Given the description of an element on the screen output the (x, y) to click on. 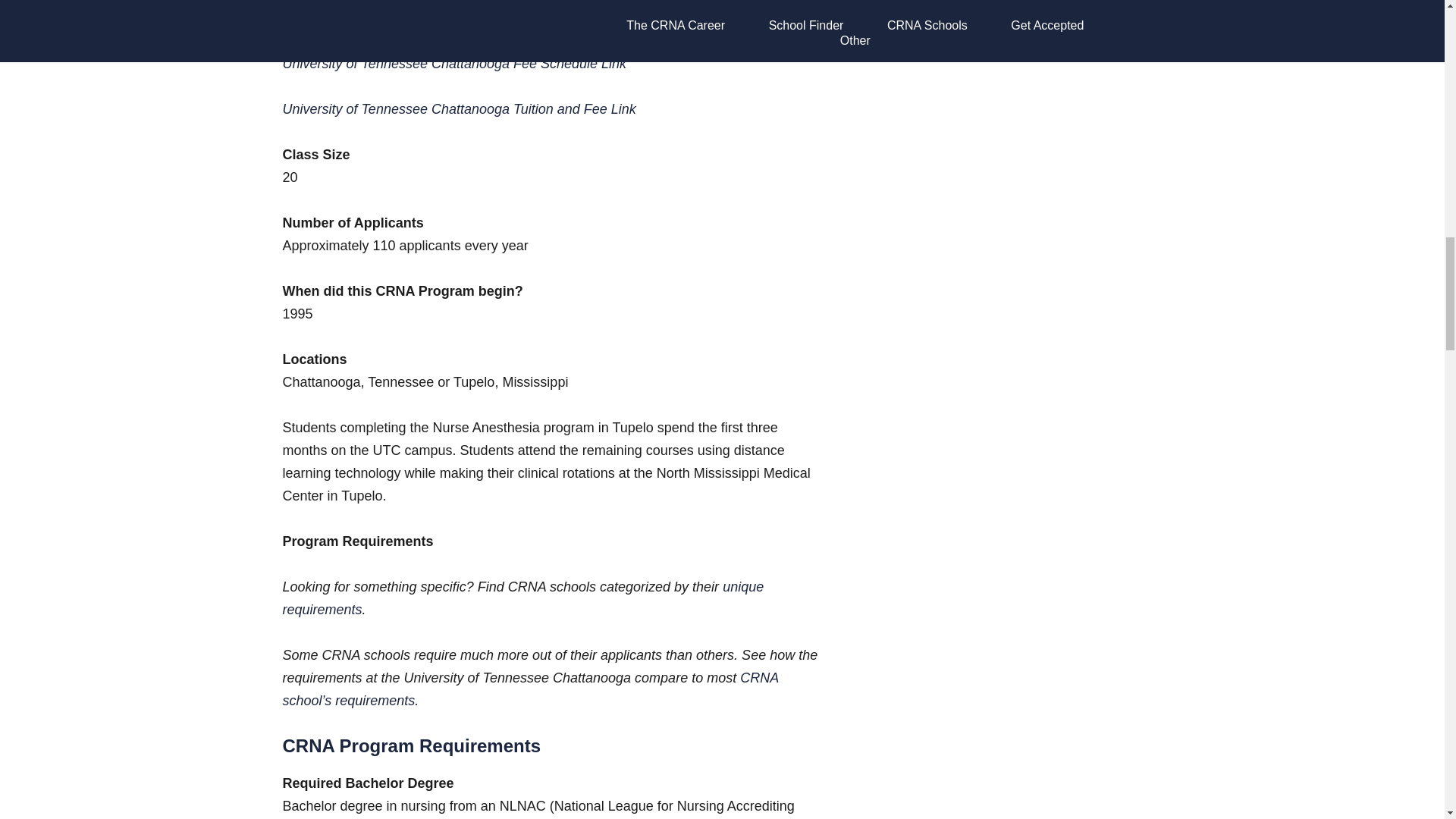
University of Tennessee Chattanooga Tuition and Fee Link (458, 109)
unique requirements (522, 598)
University of Tennessee Chattanooga Fee Schedule Link (454, 63)
